Given the description of an element on the screen output the (x, y) to click on. 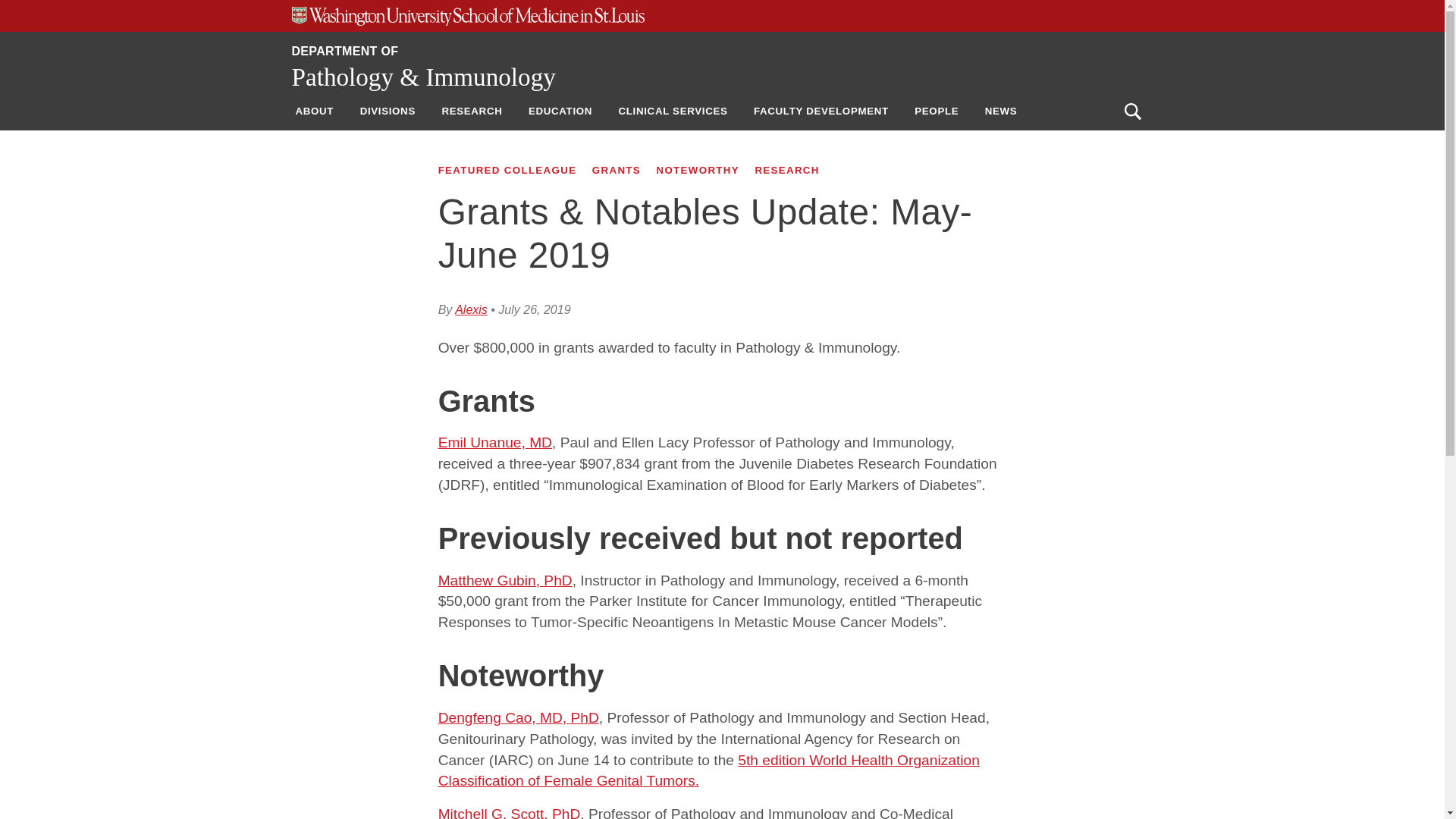
RESEARCH (471, 110)
DIVISIONS (387, 110)
EDUCATION (560, 110)
ABOUT (314, 110)
